Given the description of an element on the screen output the (x, y) to click on. 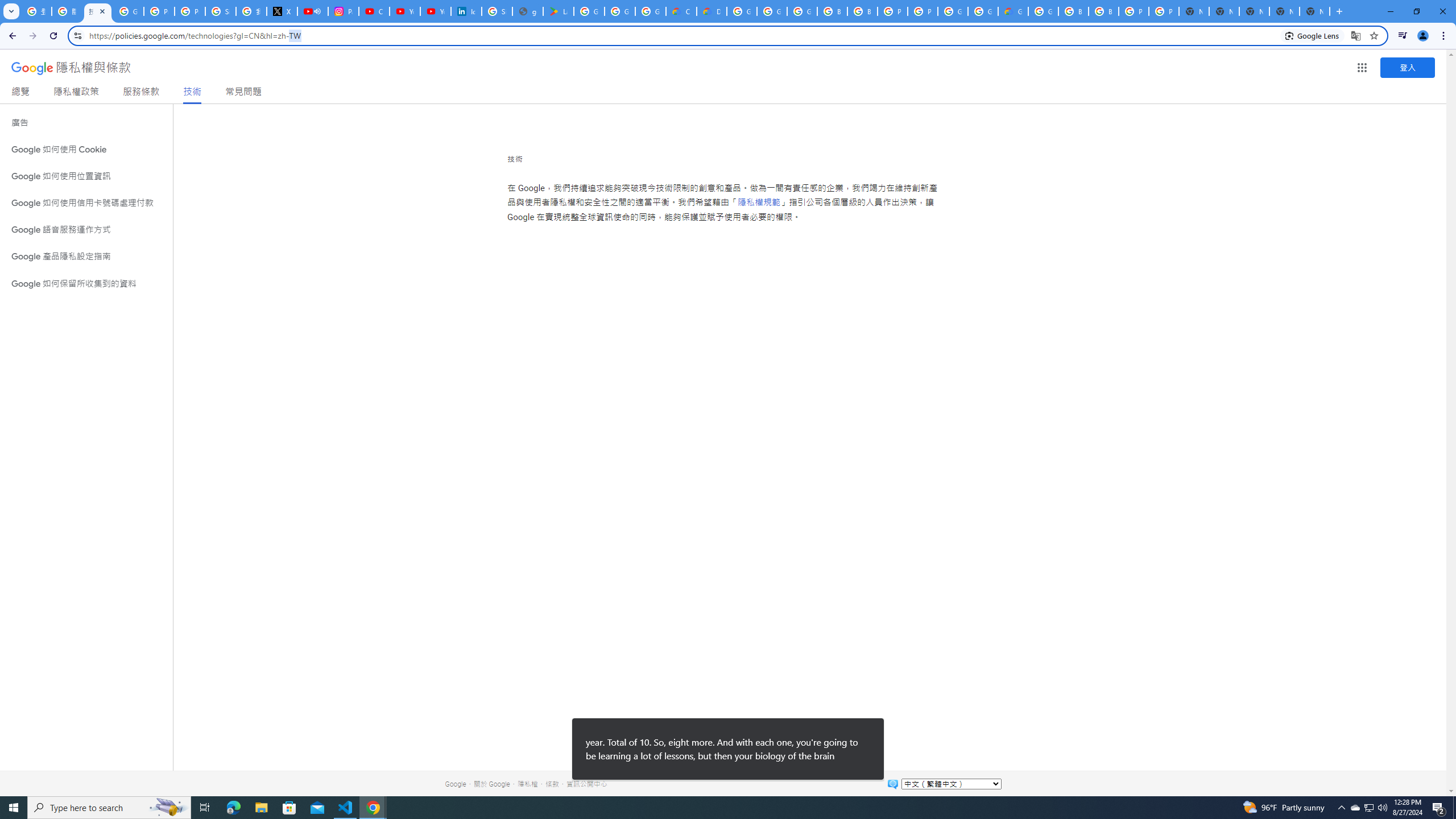
Google Cloud Platform (1042, 11)
Google Workspace - Specific Terms (650, 11)
Customer Care | Google Cloud (681, 11)
